Given the description of an element on the screen output the (x, y) to click on. 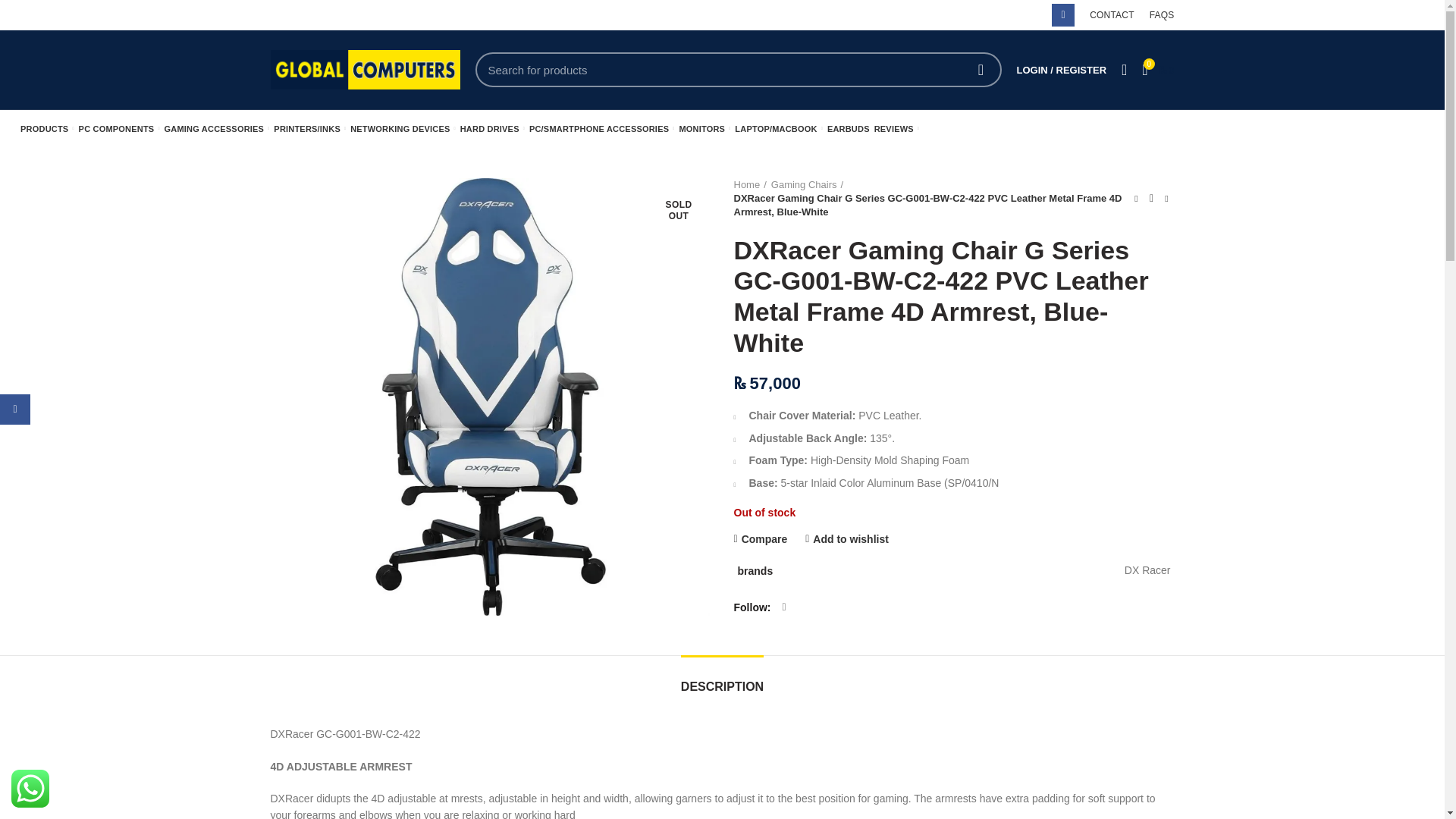
SEARCH (981, 69)
Shopping cart (1157, 69)
Facebook (1062, 15)
Log in (980, 296)
CONTACT (1111, 15)
FAQS (1161, 15)
GAMING ACCESSORIES (216, 128)
PRODUCTS (47, 128)
PC COMPONENTS (119, 128)
